Given the description of an element on the screen output the (x, y) to click on. 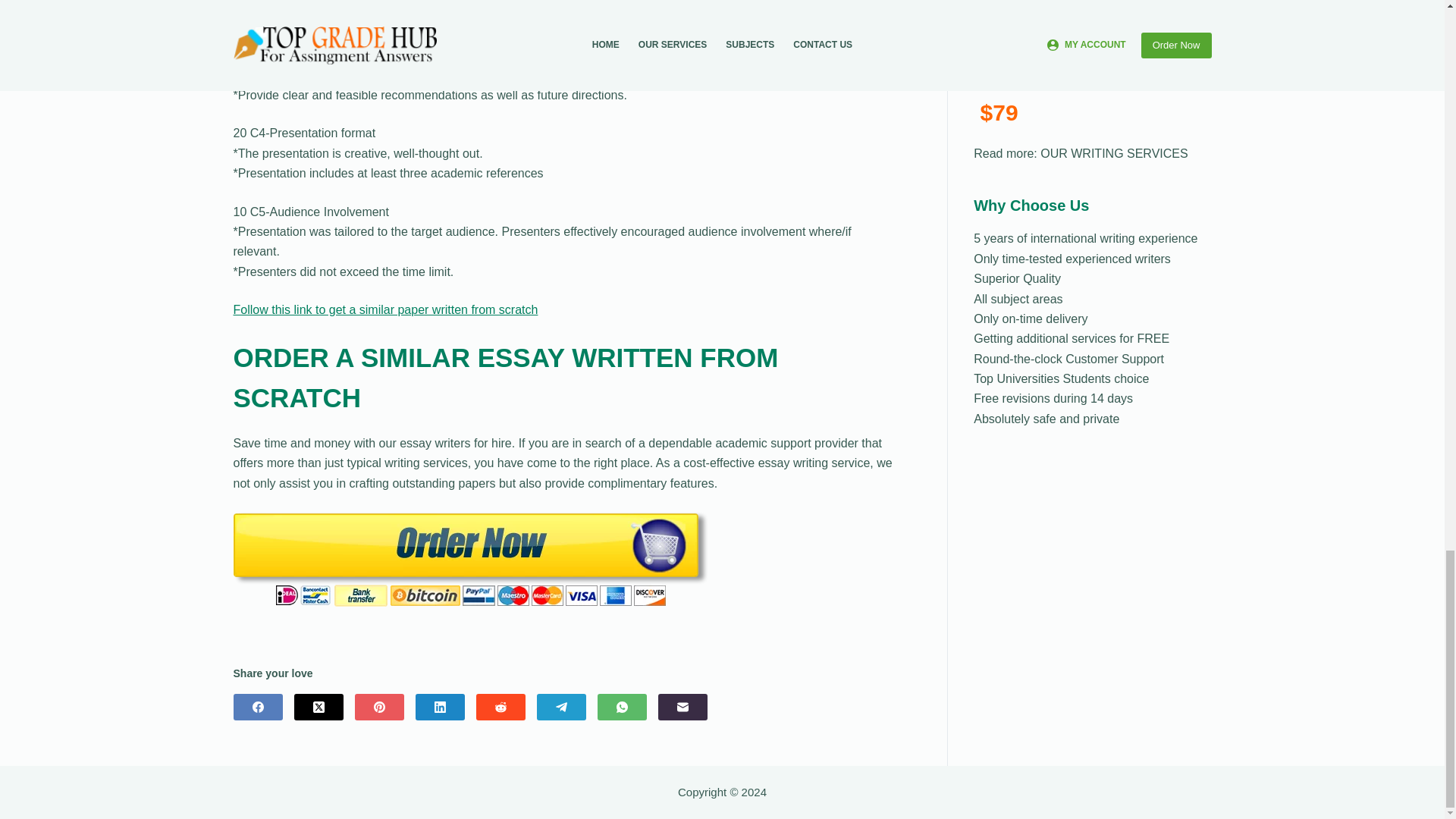
OUR WRITING SERVICES (1114, 153)
Follow this link to get a similar paper written from scratch (385, 309)
